Given the description of an element on the screen output the (x, y) to click on. 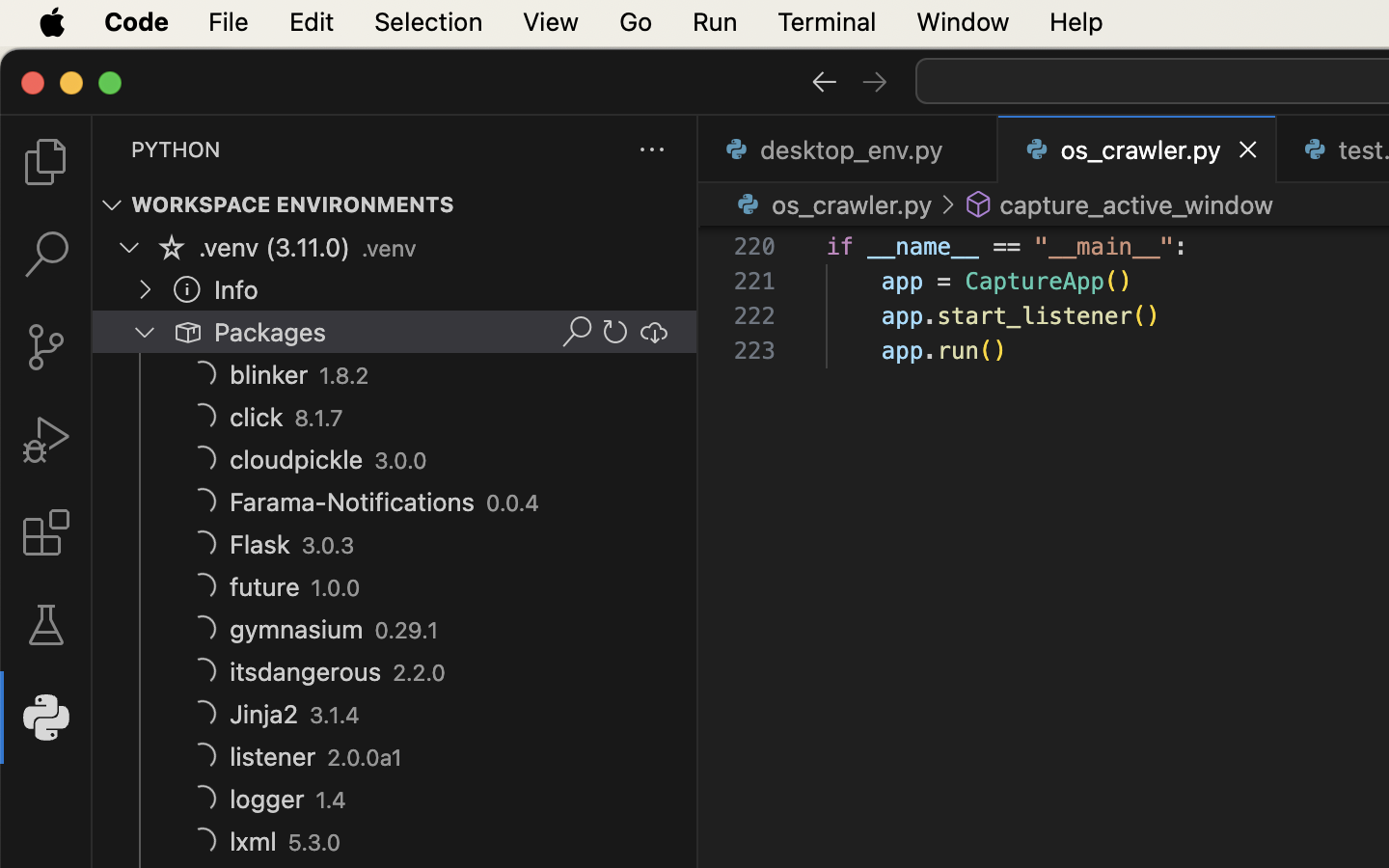
1.0.0 Element type: AXStaticText (335, 587)
Flask Element type: AXStaticText (260, 544)
 Element type: AXGroup (46, 161)
